Given the description of an element on the screen output the (x, y) to click on. 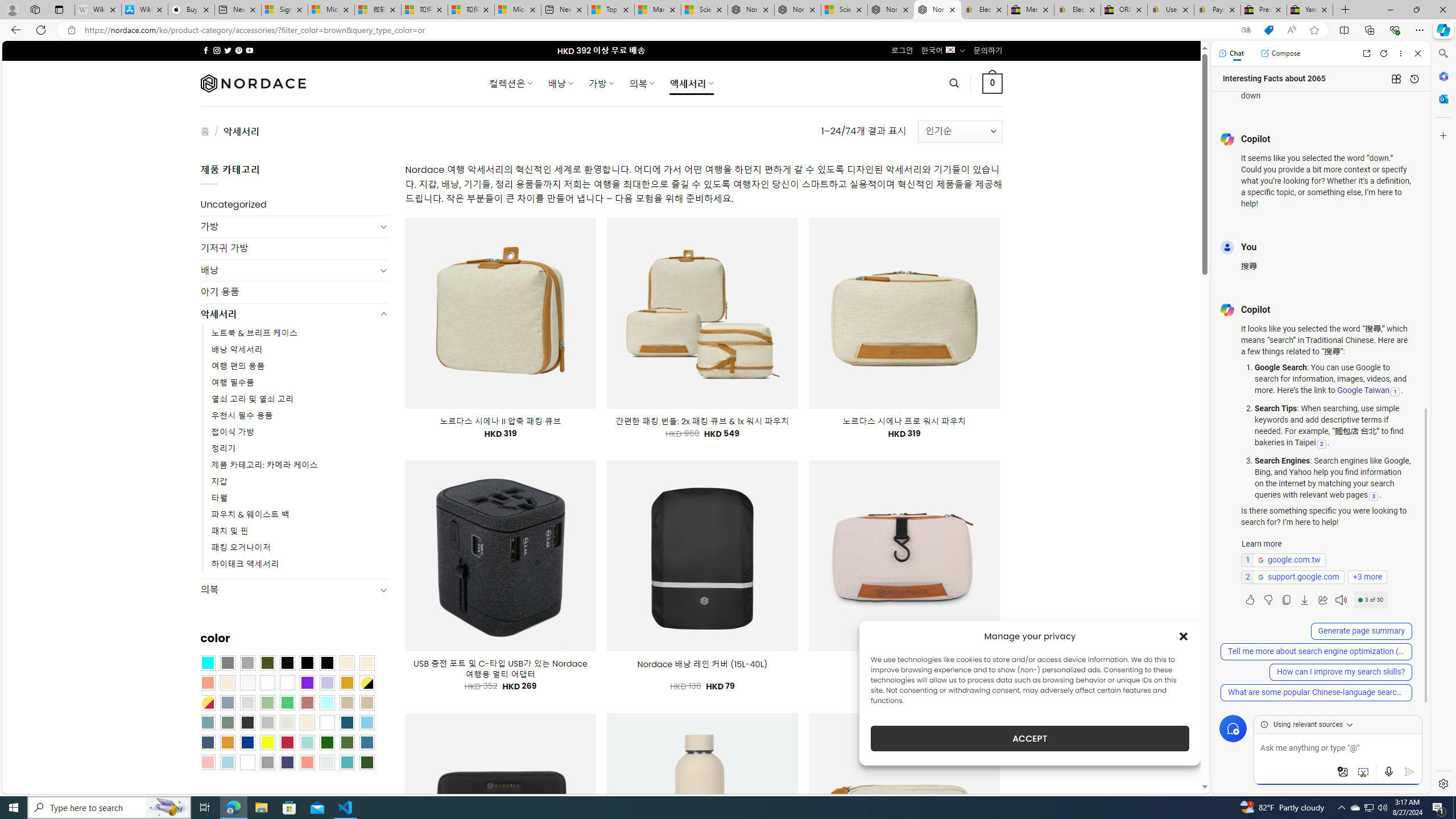
Kelp (286, 681)
